Given the description of an element on the screen output the (x, y) to click on. 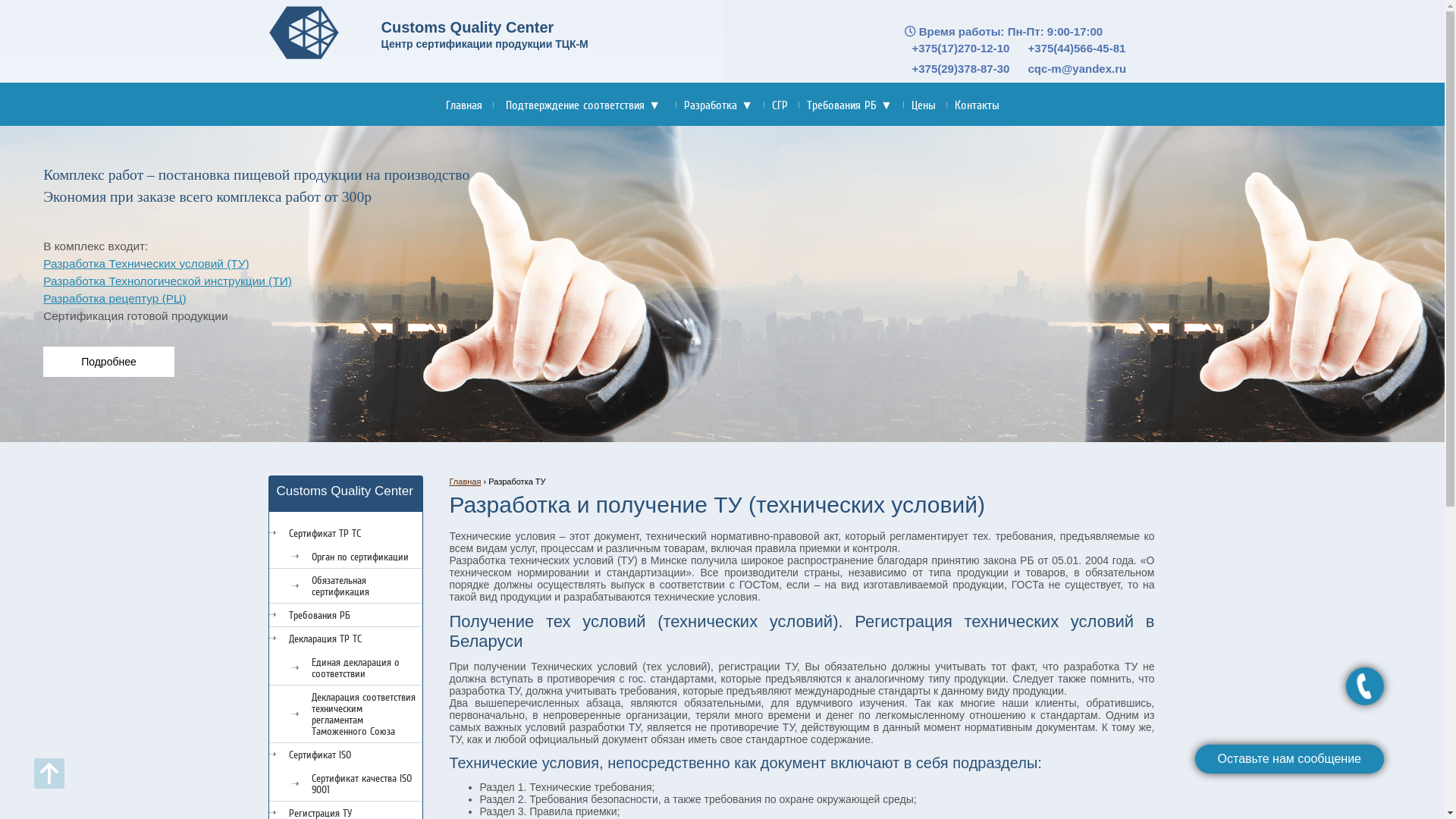
+375(17)270-12-10 Element type: text (960, 47)
cqc-m@yandex.ru Element type: text (1077, 68)
Customs Quality Center Element type: hover (302, 32)
+375(44)566-45-81 Element type: text (1077, 47)
+375(29)378-87-30 Element type: text (960, 68)
